Given the description of an element on the screen output the (x, y) to click on. 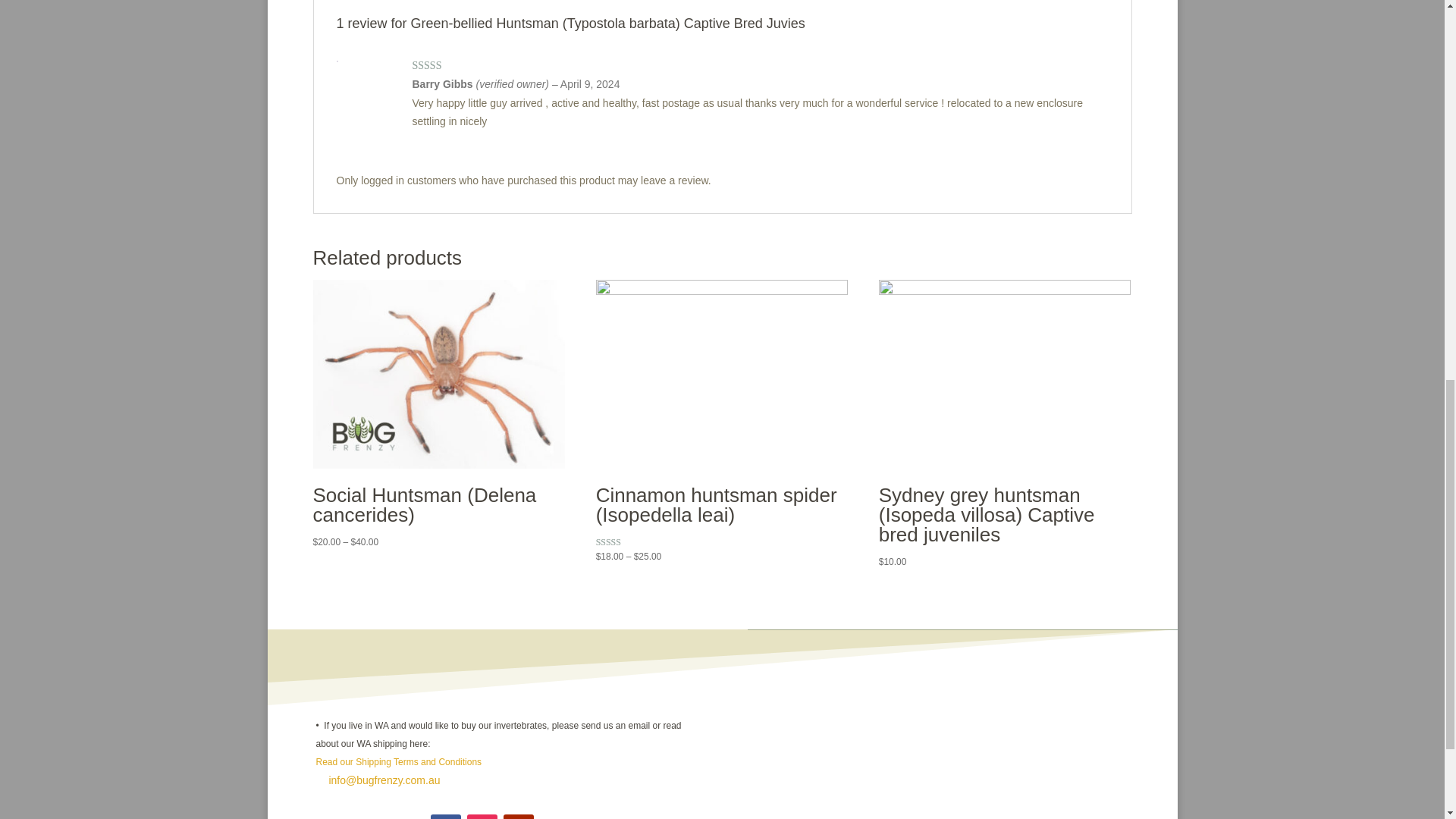
Follow on Facebook (445, 816)
Follow on Youtube (518, 816)
Follow on Instagram (482, 816)
